Given the description of an element on the screen output the (x, y) to click on. 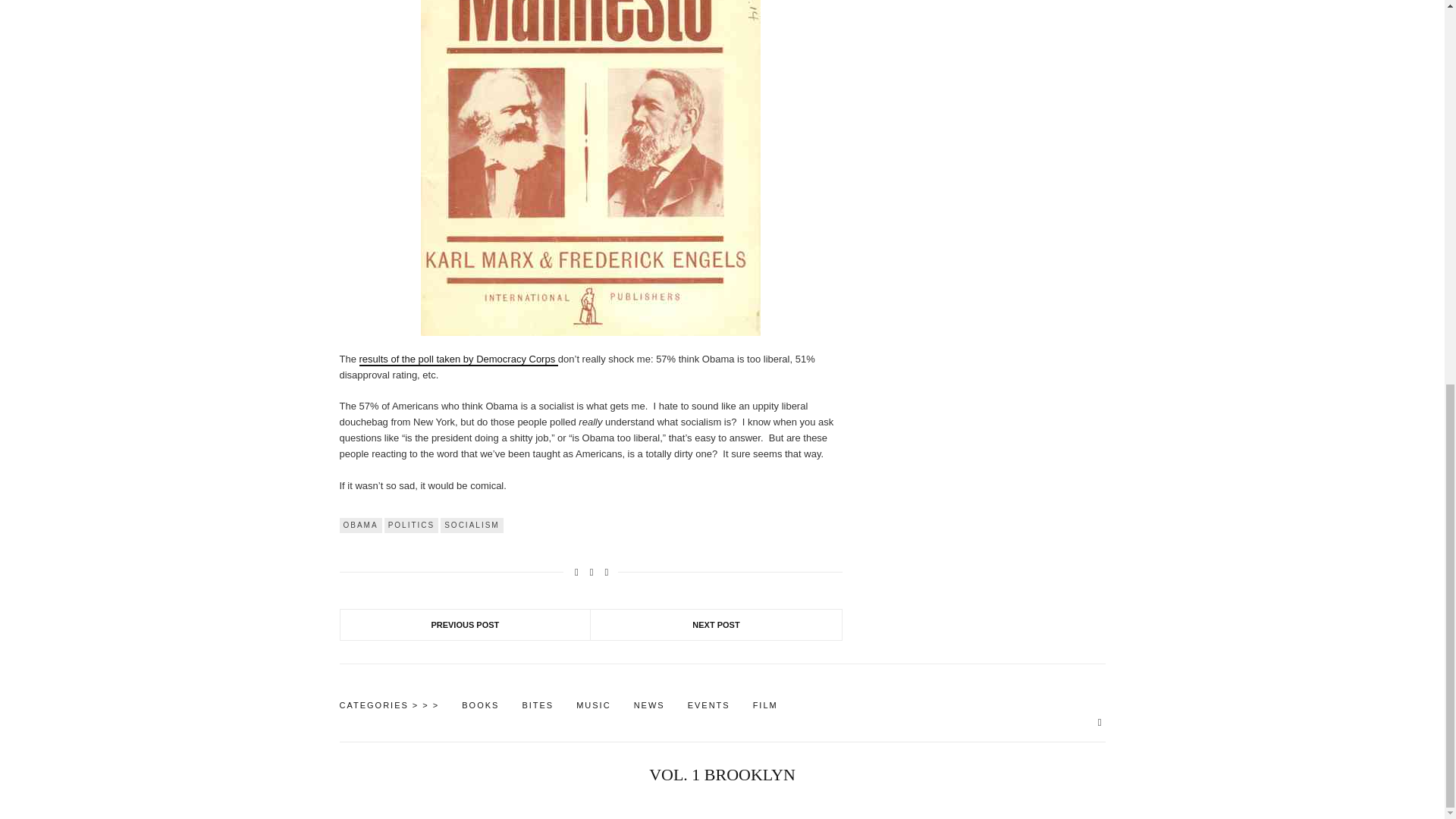
NEWS (649, 705)
BITES (537, 705)
OBAMA (360, 525)
NEXT POST (716, 624)
MUSIC (593, 705)
BOOKS (480, 705)
EVENTS (708, 705)
PREVIOUS POST (465, 624)
results of the poll taken by Democracy Corps (458, 359)
communist manifesto - cover picture (590, 167)
POLITICS (411, 525)
SOCIALISM (471, 525)
